Given the description of an element on the screen output the (x, y) to click on. 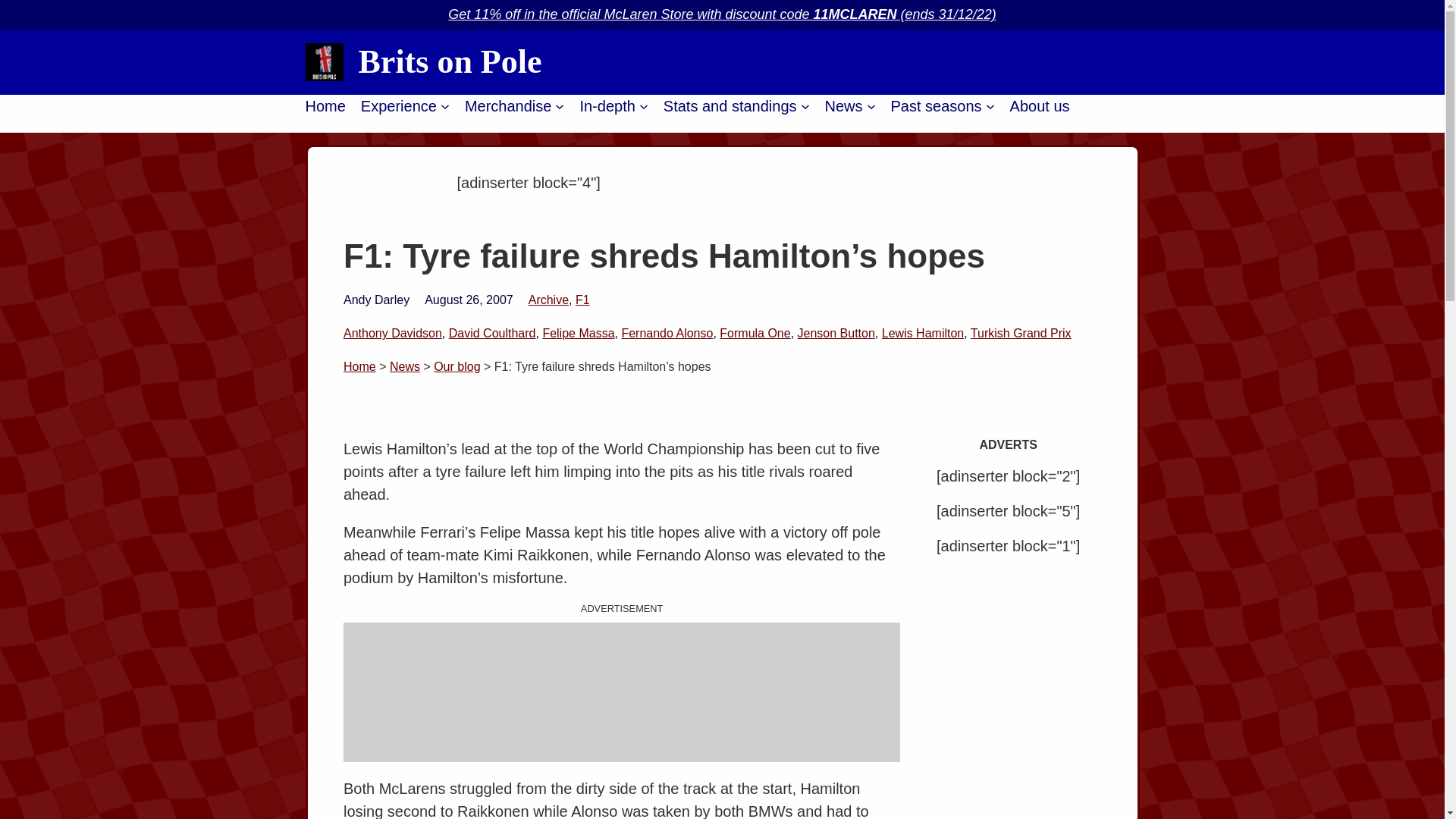
Brits on Pole (449, 61)
Go to News. (405, 366)
Home (324, 106)
In-depth (606, 106)
Experience (398, 106)
Merchandise (507, 106)
Go to Brits on Pole. (359, 366)
Go to Our blog. (456, 366)
Advertisement (621, 692)
